Given the description of an element on the screen output the (x, y) to click on. 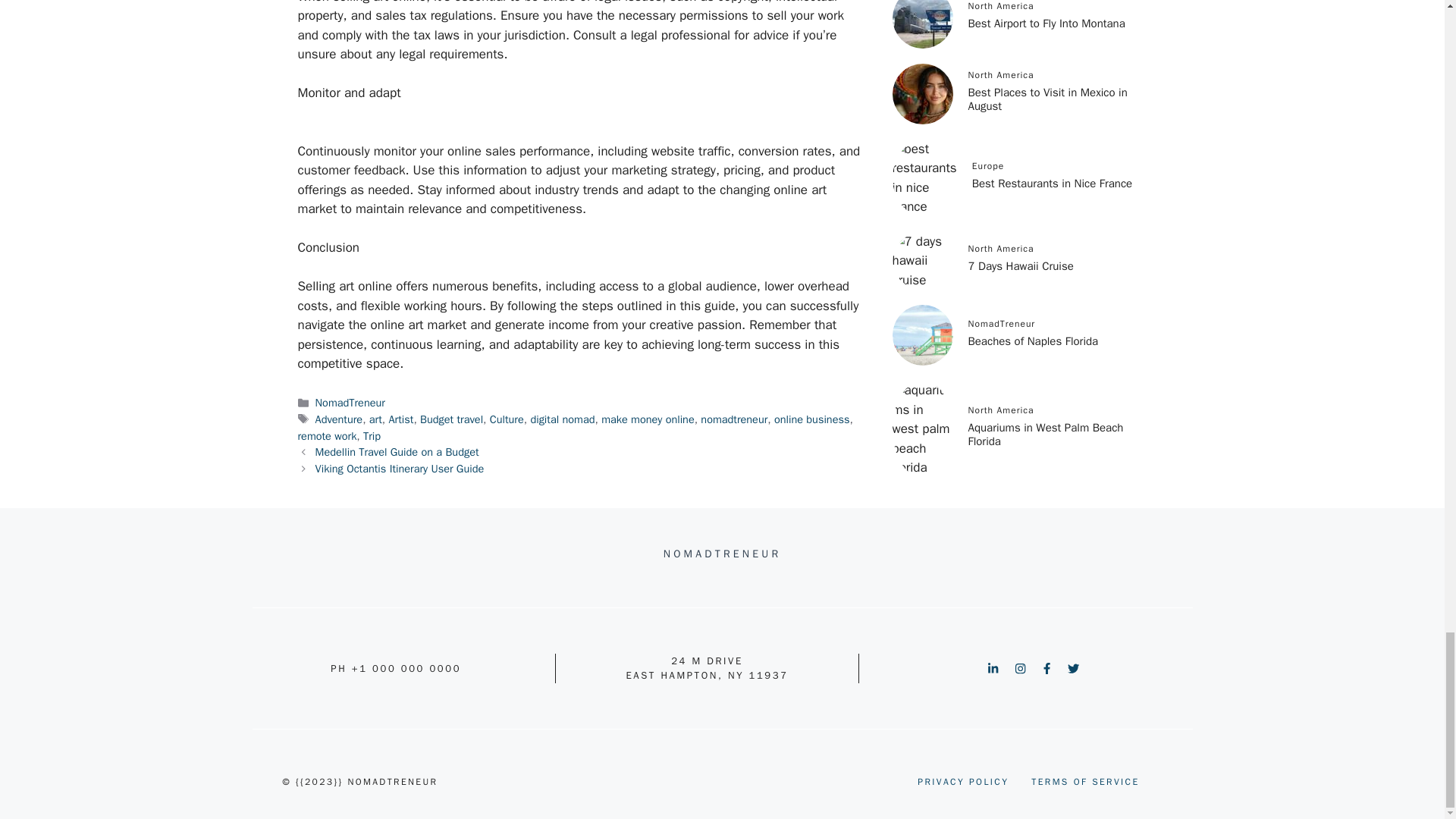
Adventure (338, 418)
NomadTreneur (350, 402)
Artist (400, 418)
digital nomad (561, 418)
Budget travel (451, 418)
Viking Octantis Itinerary User Guide (399, 468)
art (375, 418)
remote work (326, 436)
Trip (371, 436)
nomadtreneur (733, 418)
Medellin Travel Guide on a Budget (397, 451)
Culture (506, 418)
online business (811, 418)
make money online (647, 418)
